Given the description of an element on the screen output the (x, y) to click on. 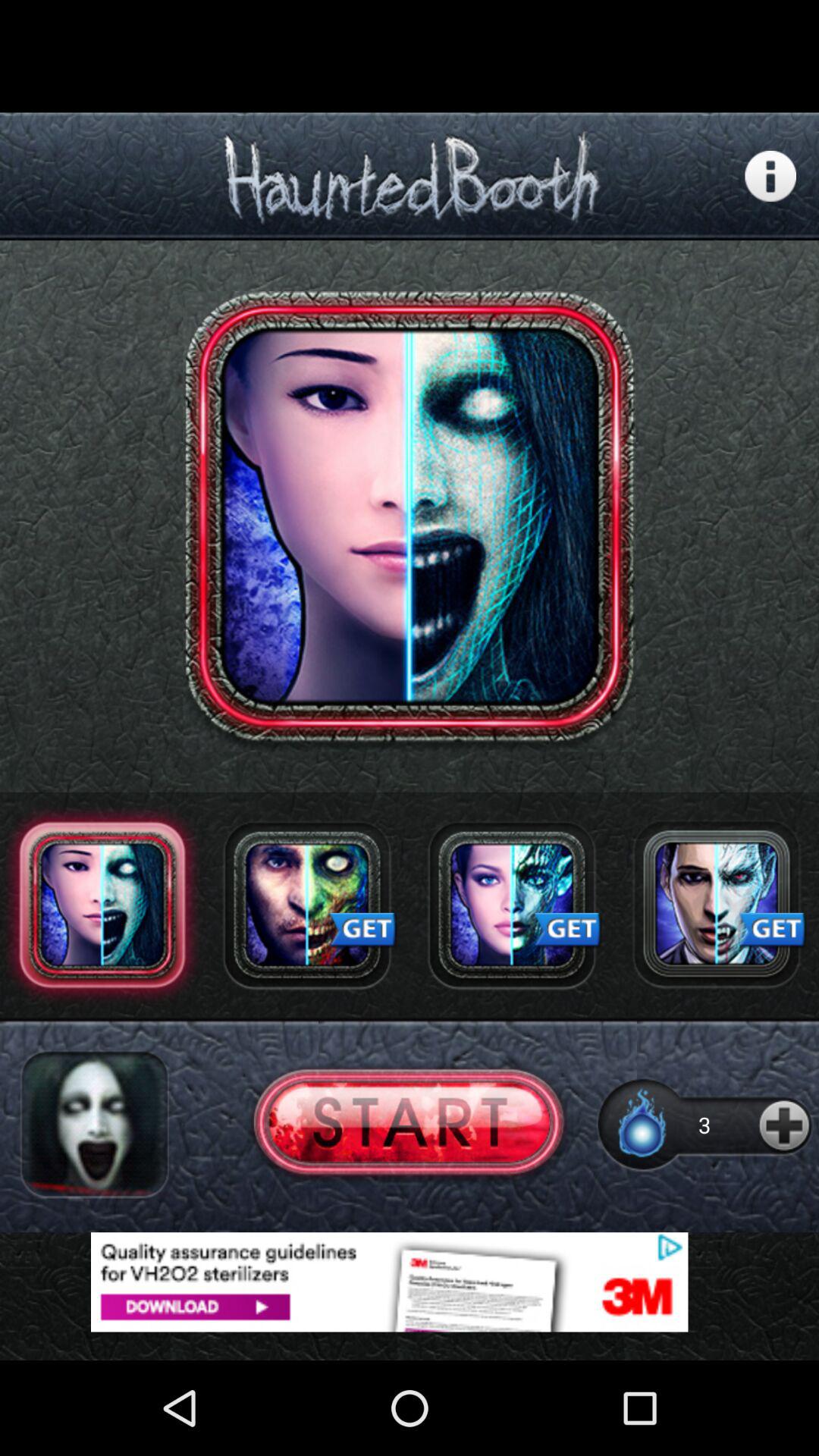
more information (770, 175)
